Given the description of an element on the screen output the (x, y) to click on. 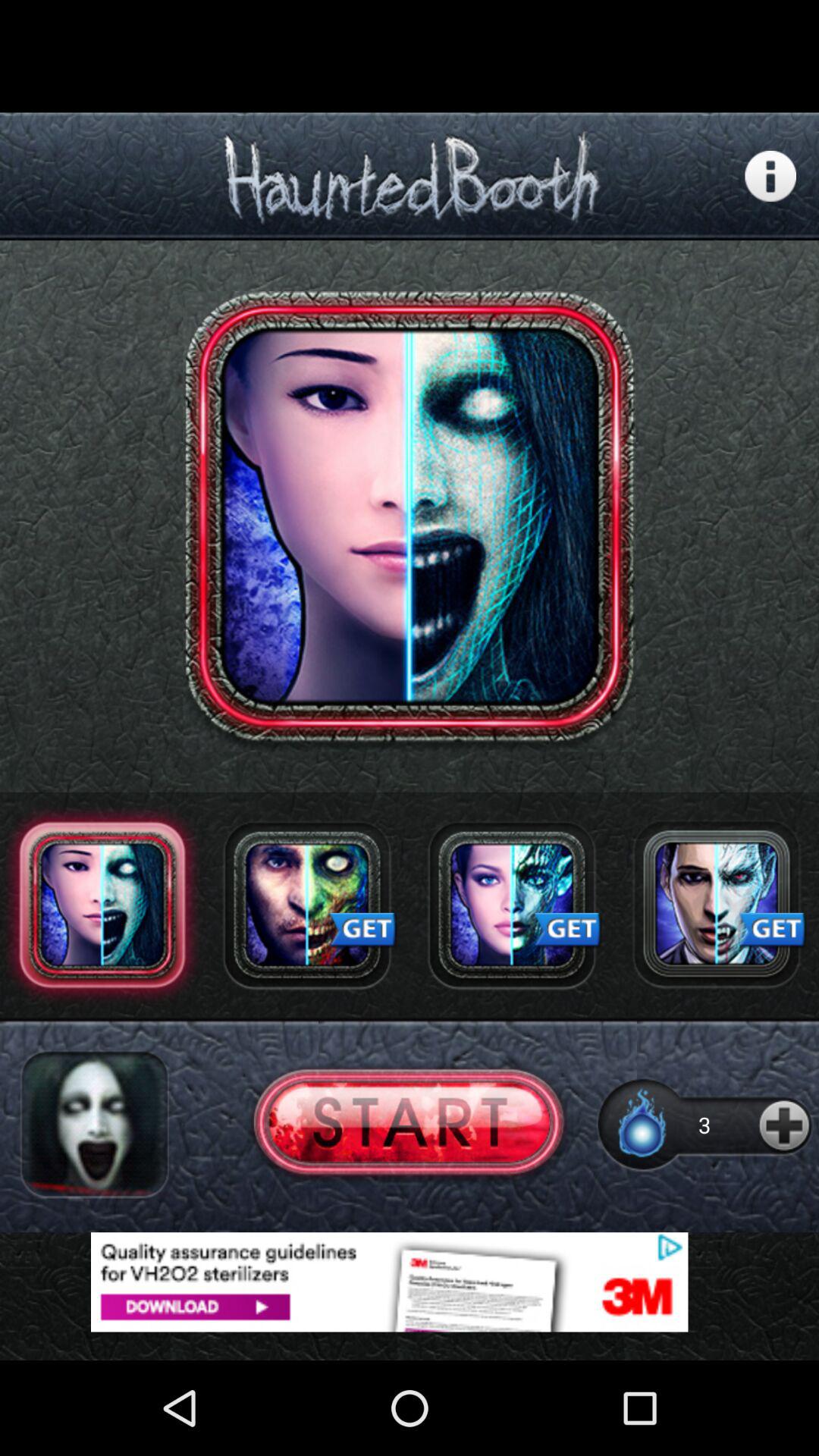
more information (770, 175)
